Given the description of an element on the screen output the (x, y) to click on. 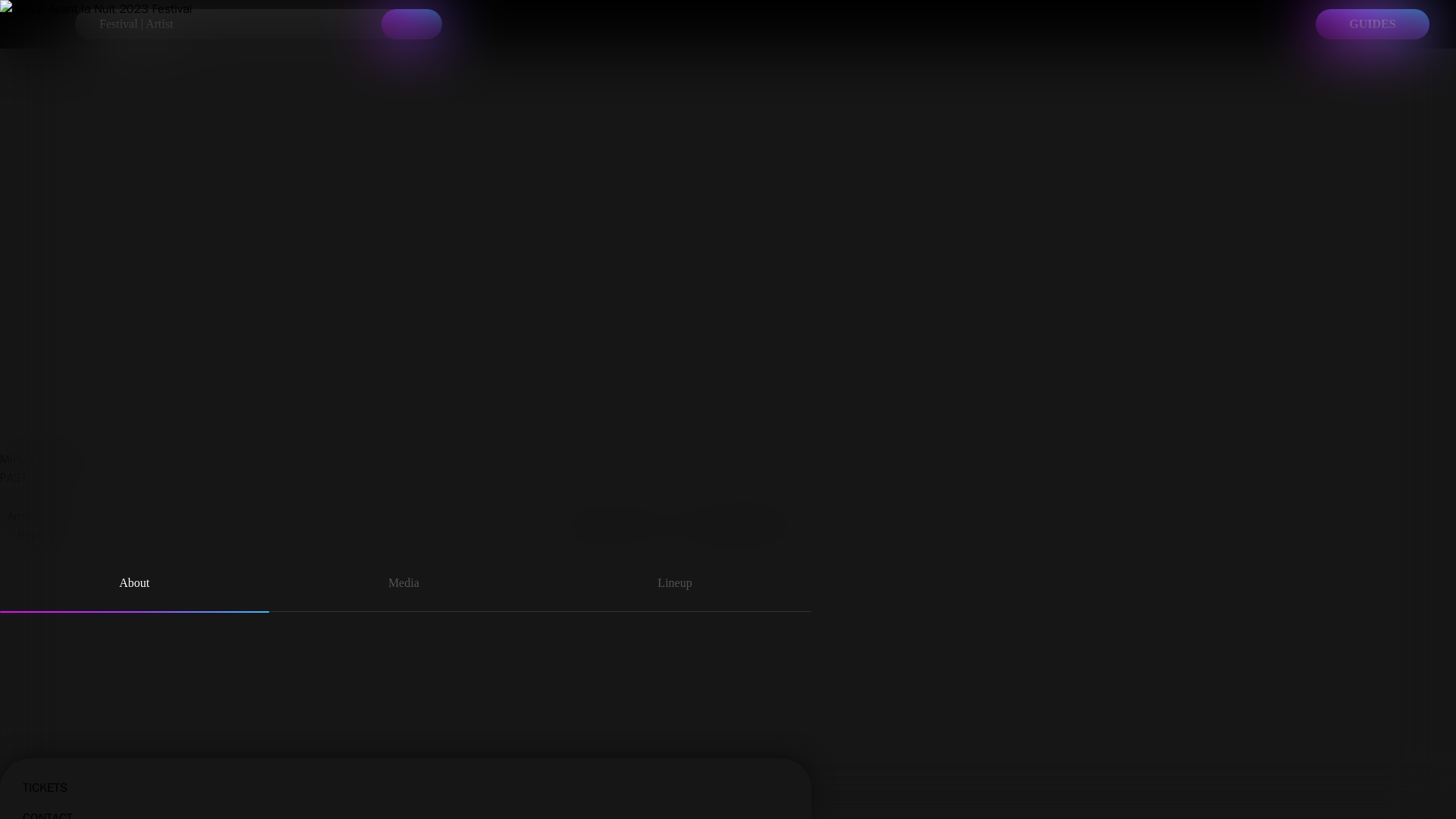
GUIDES (1372, 24)
TICKETS (406, 773)
Media (403, 584)
About (134, 584)
Lineup (674, 584)
